Given the description of an element on the screen output the (x, y) to click on. 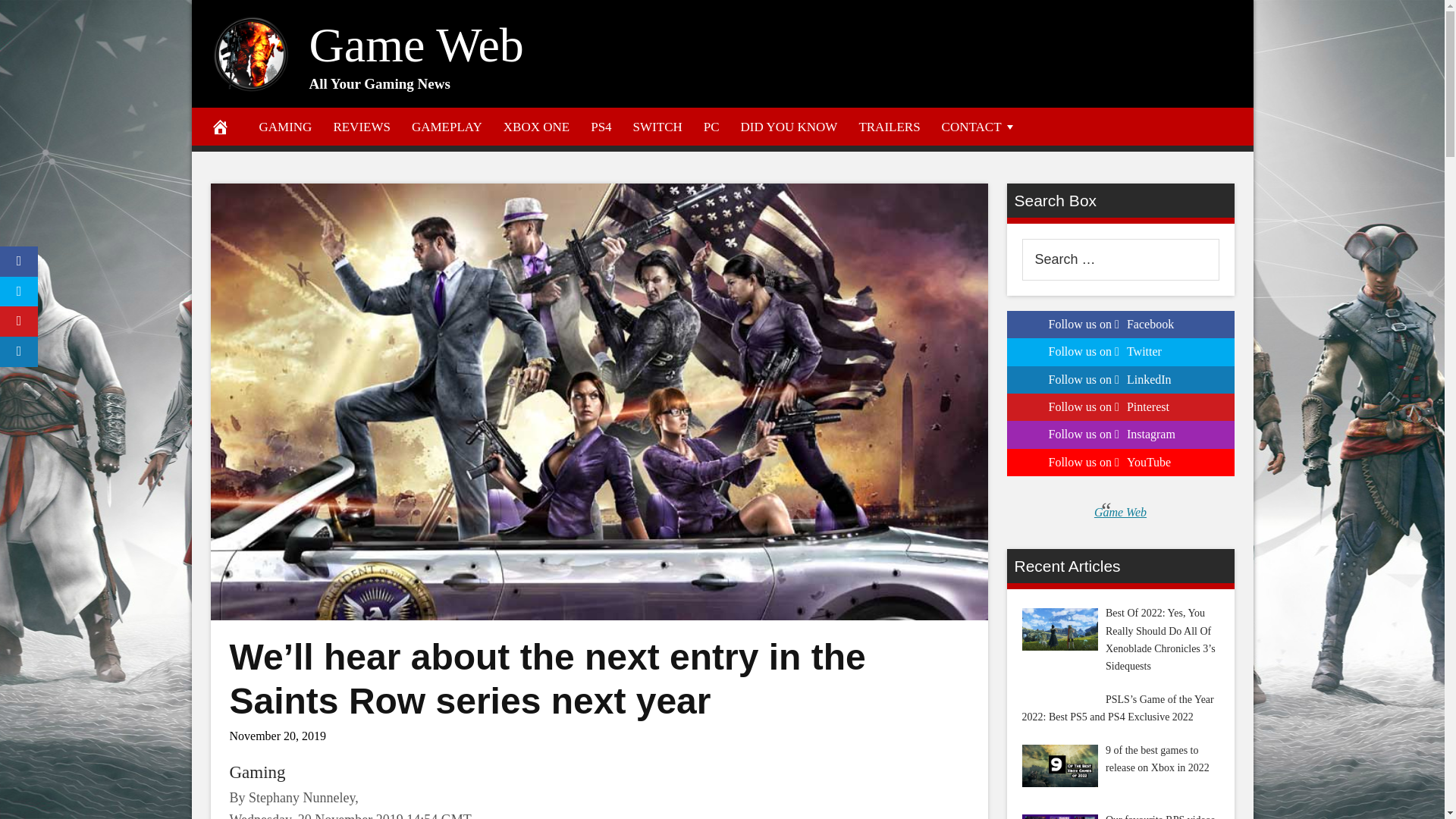
Gaming (256, 772)
Game Web (416, 45)
GAMING (285, 126)
PS4 (600, 126)
REVIEWS (361, 126)
GAMEPLAY (447, 126)
DID YOU KNOW (789, 126)
CONTACT (979, 126)
PC (711, 126)
